Given the description of an element on the screen output the (x, y) to click on. 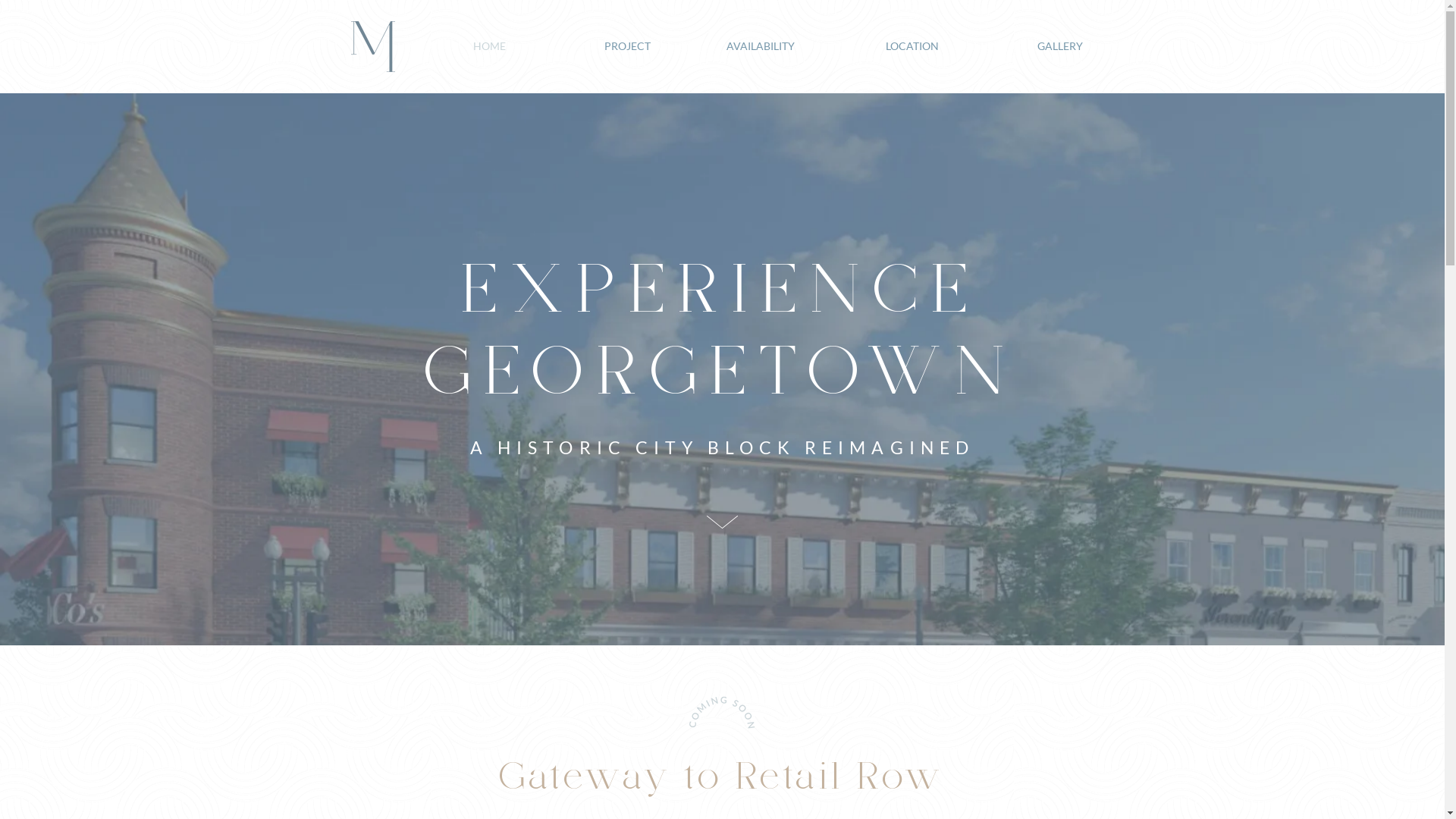
AVAILABILITY Element type: text (733, 46)
GALLERY Element type: text (1021, 46)
LOCATION Element type: text (877, 46)
HOME Element type: text (443, 46)
PROJECT Element type: text (589, 46)
